Given the description of an element on the screen output the (x, y) to click on. 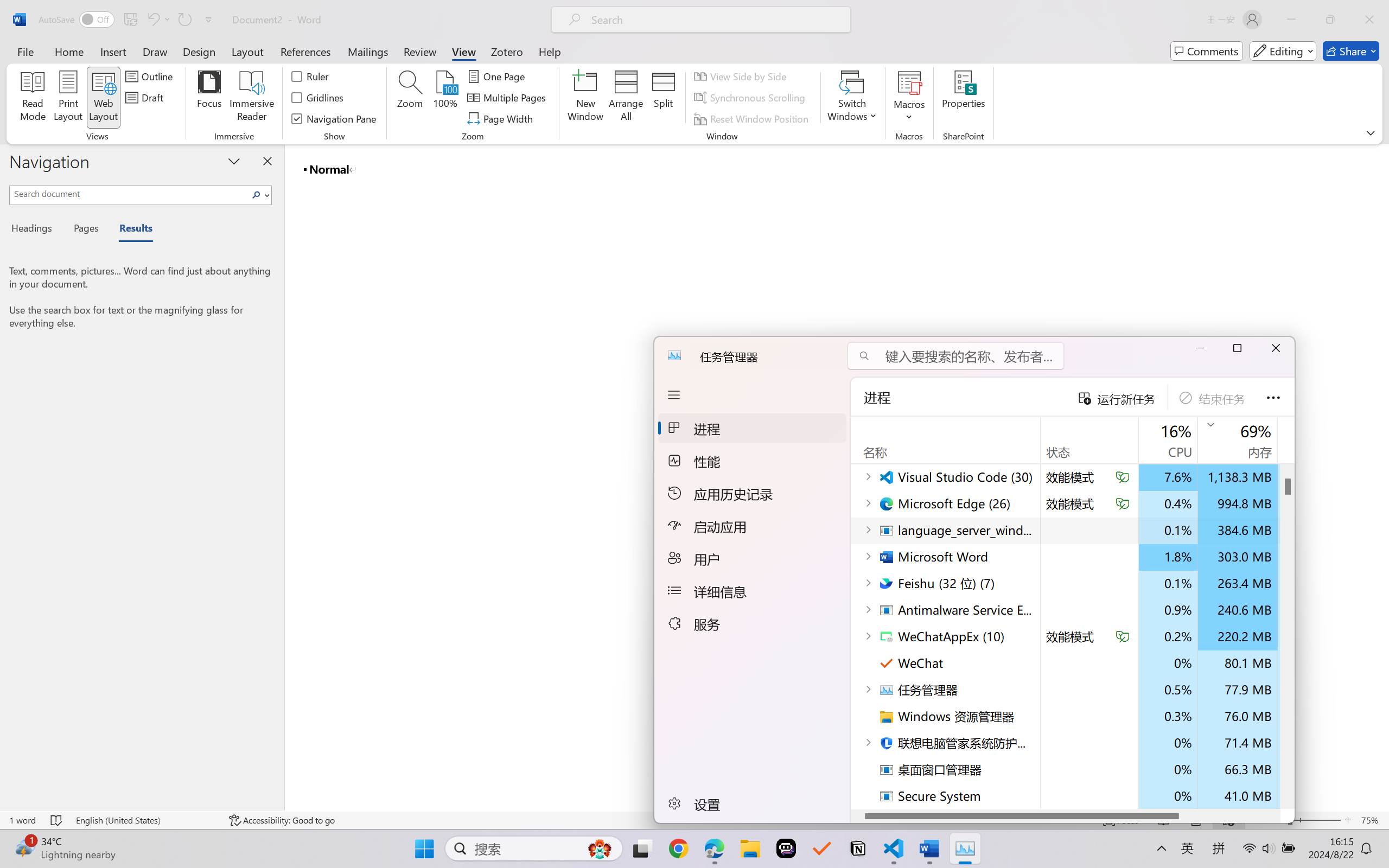
Poe (786, 848)
Gridlines (317, 97)
Arrange All (625, 97)
Results (130, 229)
